Given the description of an element on the screen output the (x, y) to click on. 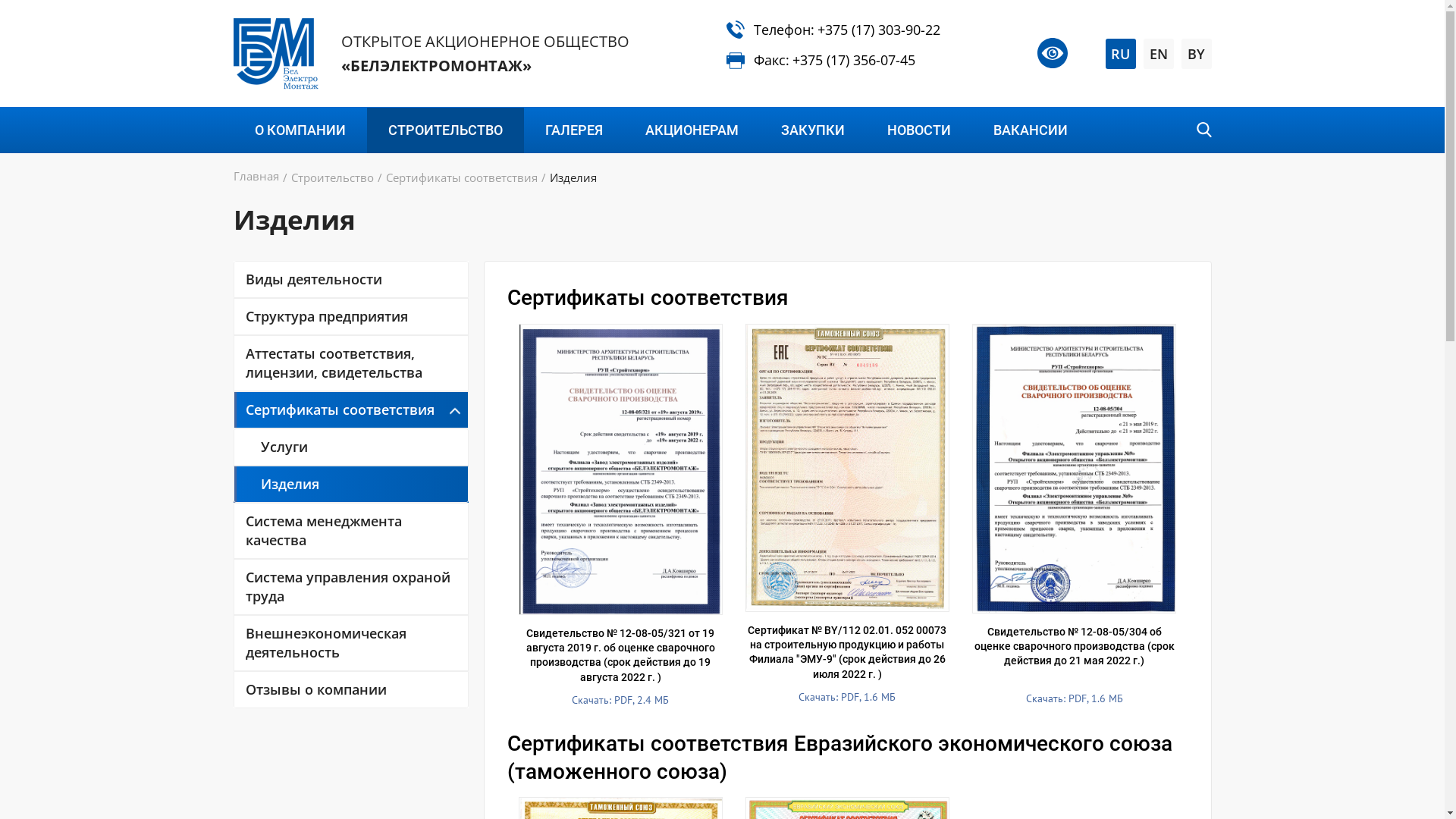
RU Element type: text (1120, 53)
+375 (17) 303-90-22 Element type: text (878, 29)
BY Element type: text (1196, 53)
EN Element type: text (1158, 53)
+375 (17) 356-07-45 Element type: text (852, 60)
